Given the description of an element on the screen output the (x, y) to click on. 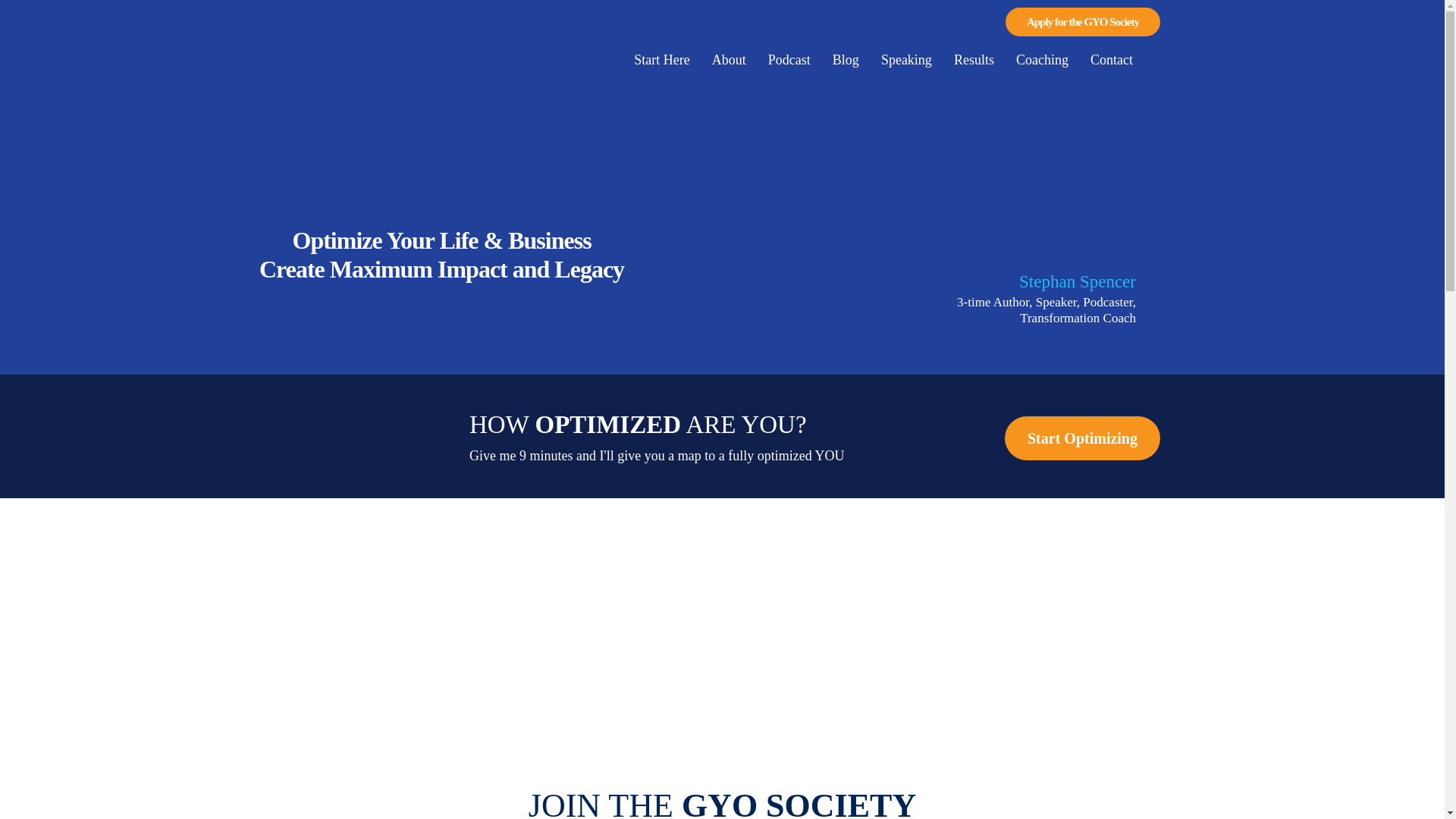
Podcast (788, 60)
Blog (845, 60)
Speaking (906, 60)
Contact (1111, 60)
Start Optimizing (1082, 438)
Start Here (661, 60)
Results (973, 60)
Coaching (1042, 60)
Apply for the GYO Society (1083, 21)
About (729, 60)
